Given the description of an element on the screen output the (x, y) to click on. 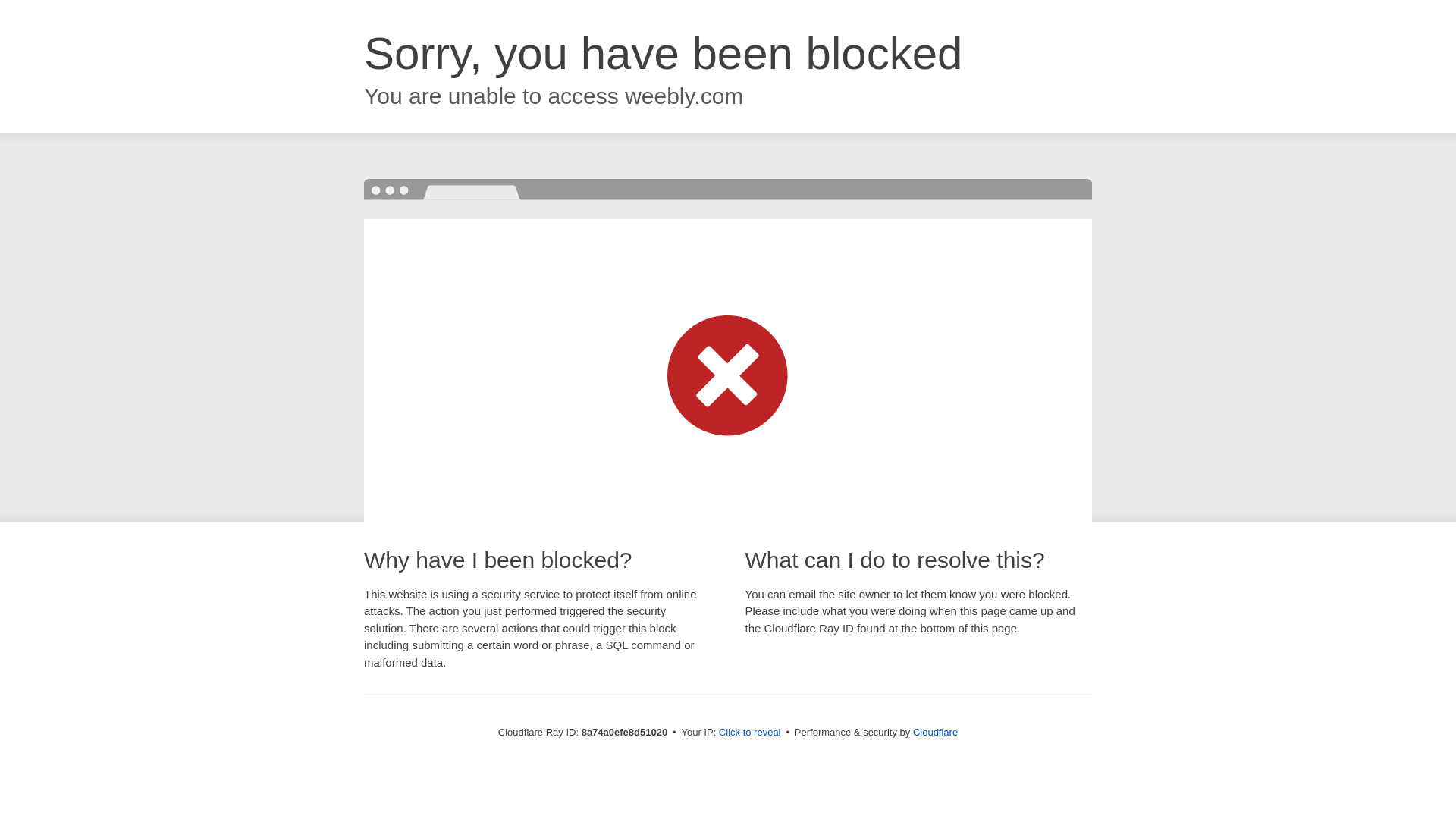
Click to reveal (749, 732)
Cloudflare (935, 731)
